Given the description of an element on the screen output the (x, y) to click on. 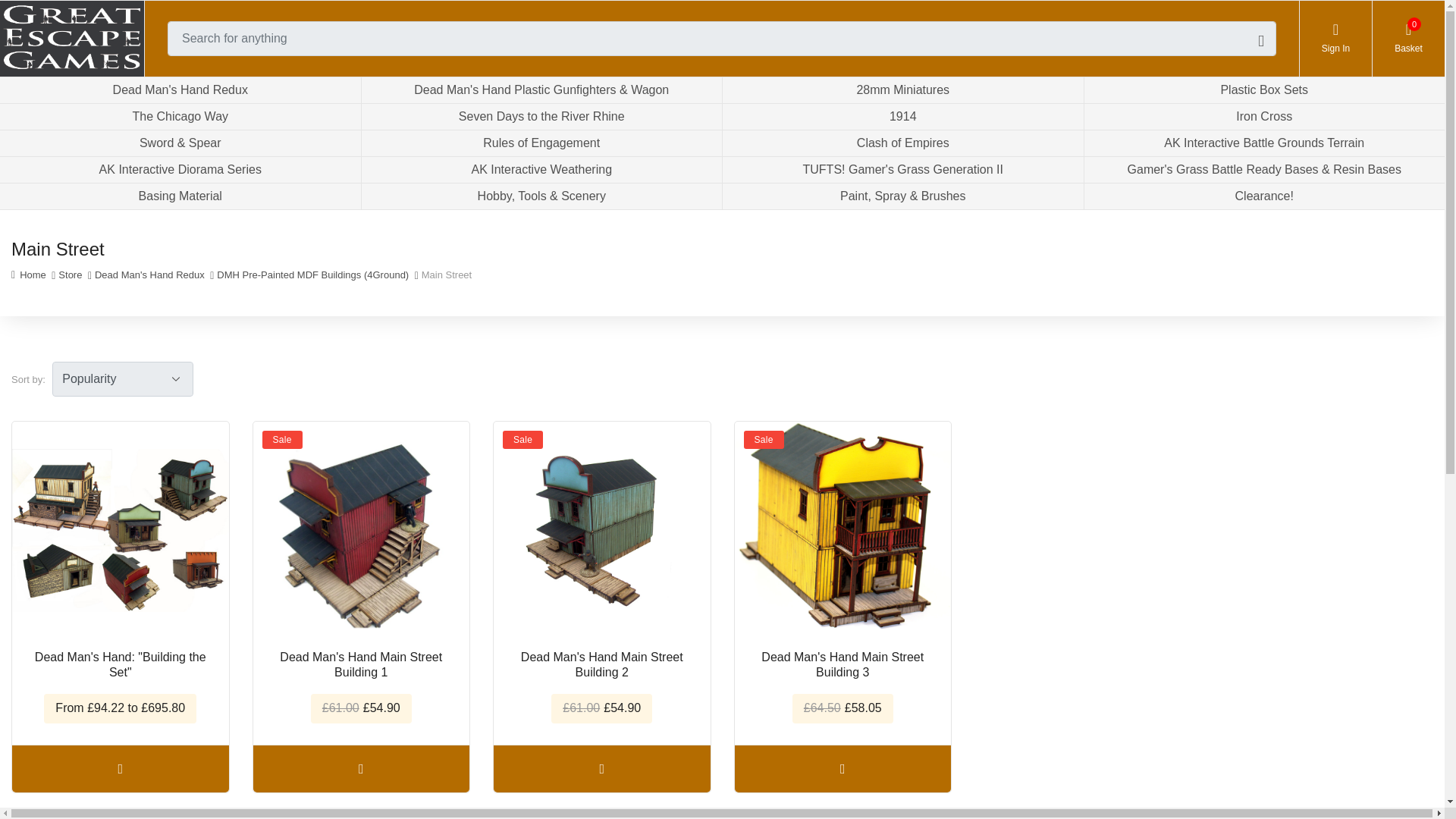
Dead Man's Hand Main Street Building 2 (601, 529)
Dead Man's Hand:  (119, 529)
Dead Man's Hand Main Street Building 3 (841, 529)
Sign In (1408, 38)
Dead Man's Hand Main Street Building 1 (1335, 38)
